Given the description of an element on the screen output the (x, y) to click on. 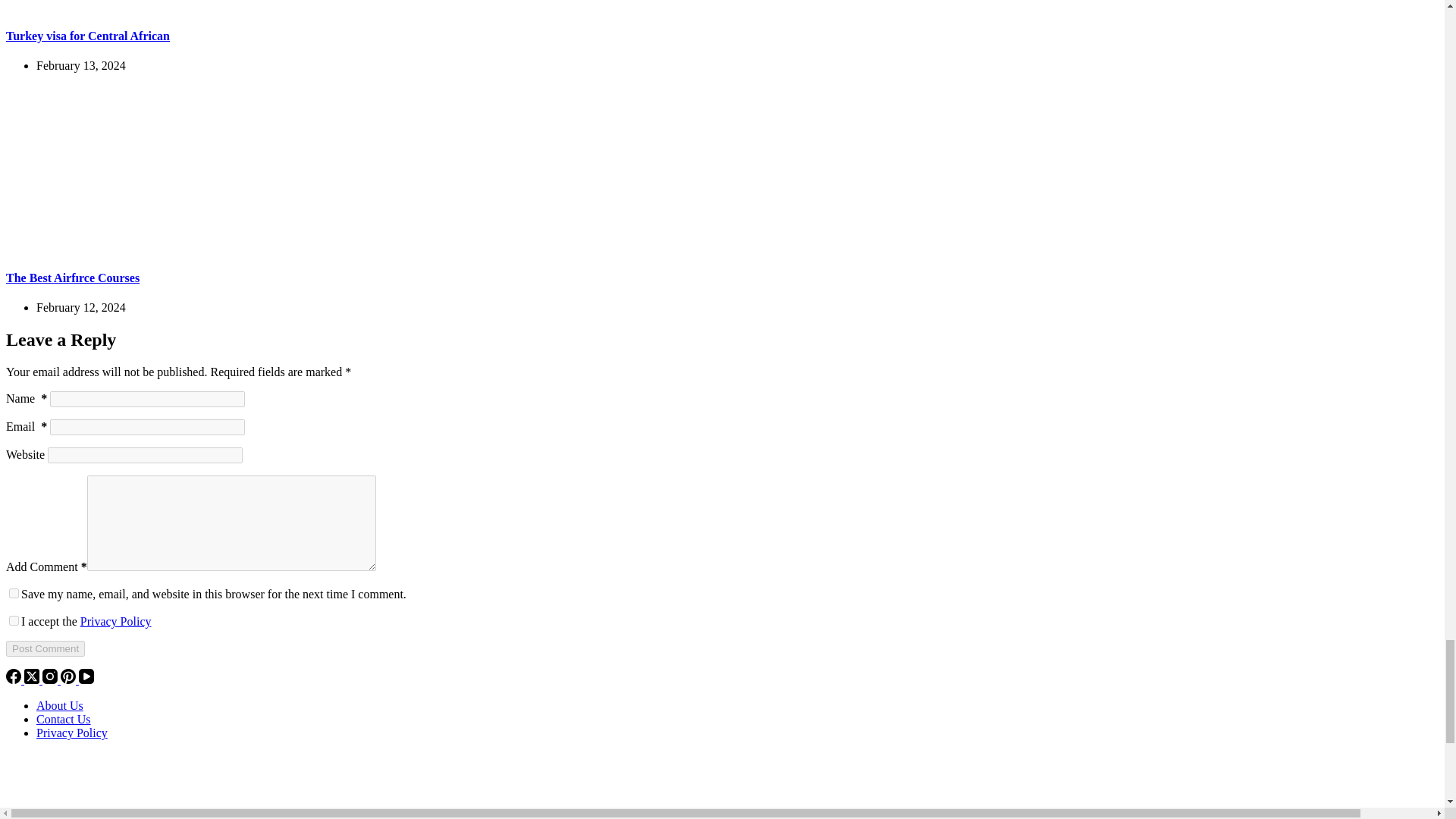
yes (13, 593)
on (13, 620)
